Given the description of an element on the screen output the (x, y) to click on. 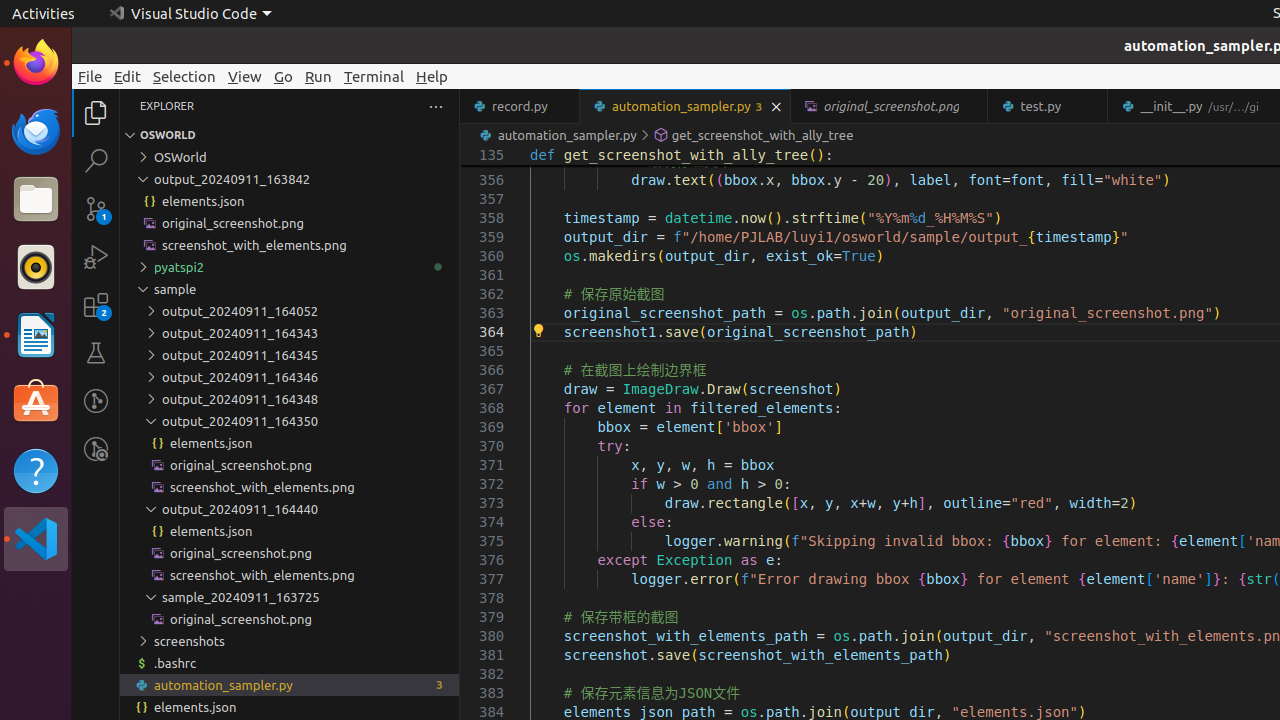
GitLens Inspect Element type: page-tab (96, 449)
Source Control (Ctrl+Shift+G G) - 1 pending changes Element type: page-tab (96, 208)
record.py Element type: page-tab (520, 106)
original_screenshot.png, preview Element type: page-tab (890, 106)
test.py Element type: page-tab (1048, 106)
